Given the description of an element on the screen output the (x, y) to click on. 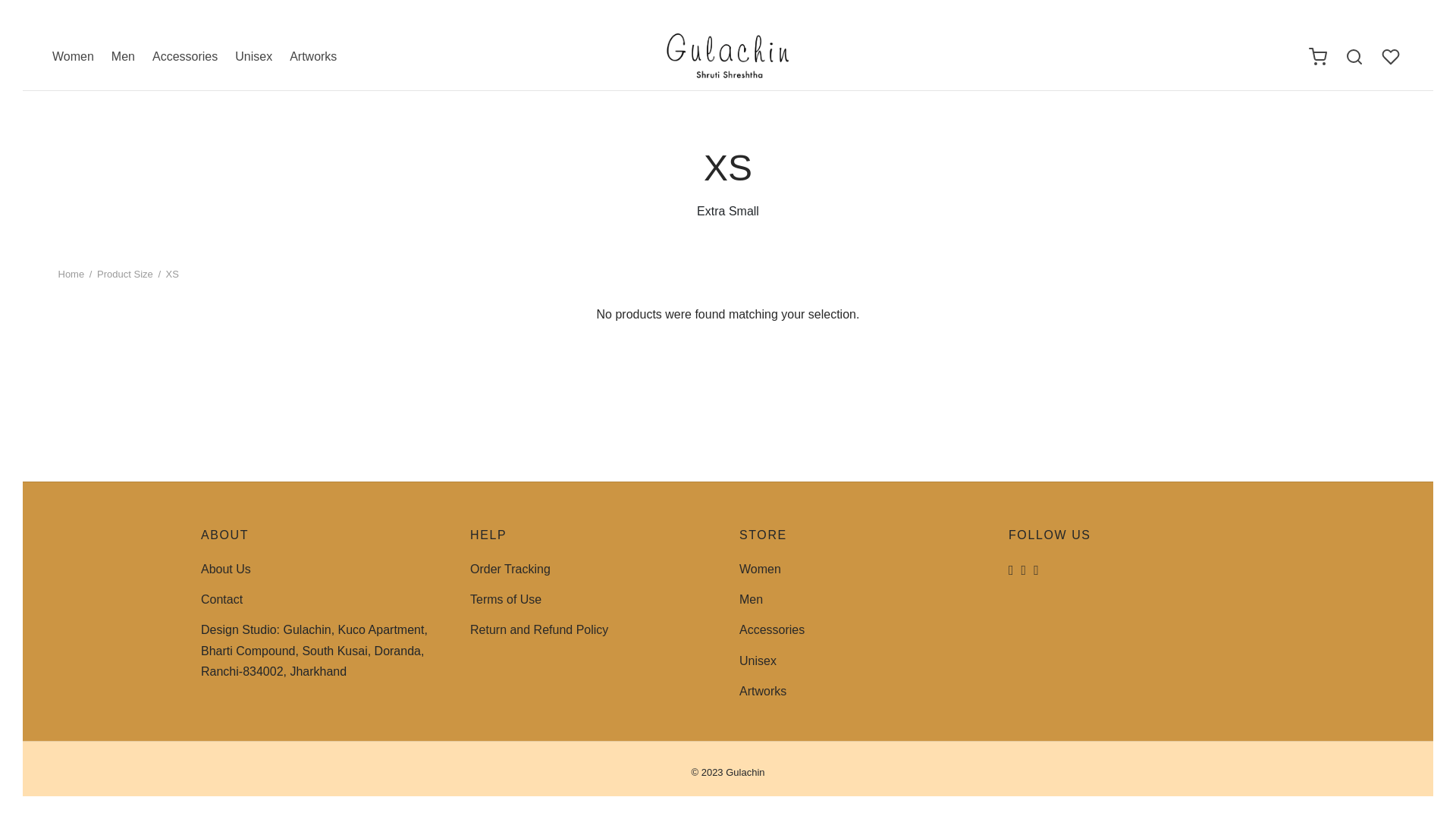
Order Tracking (510, 568)
Unisex (253, 57)
Women (73, 57)
Artworks (762, 691)
Artworks (312, 57)
Accessories (772, 630)
Men (750, 599)
Women (759, 568)
Terms of Use (505, 599)
Home (71, 274)
Unisex (757, 660)
Contact (221, 599)
About Us (225, 568)
Cart (1317, 56)
